Given the description of an element on the screen output the (x, y) to click on. 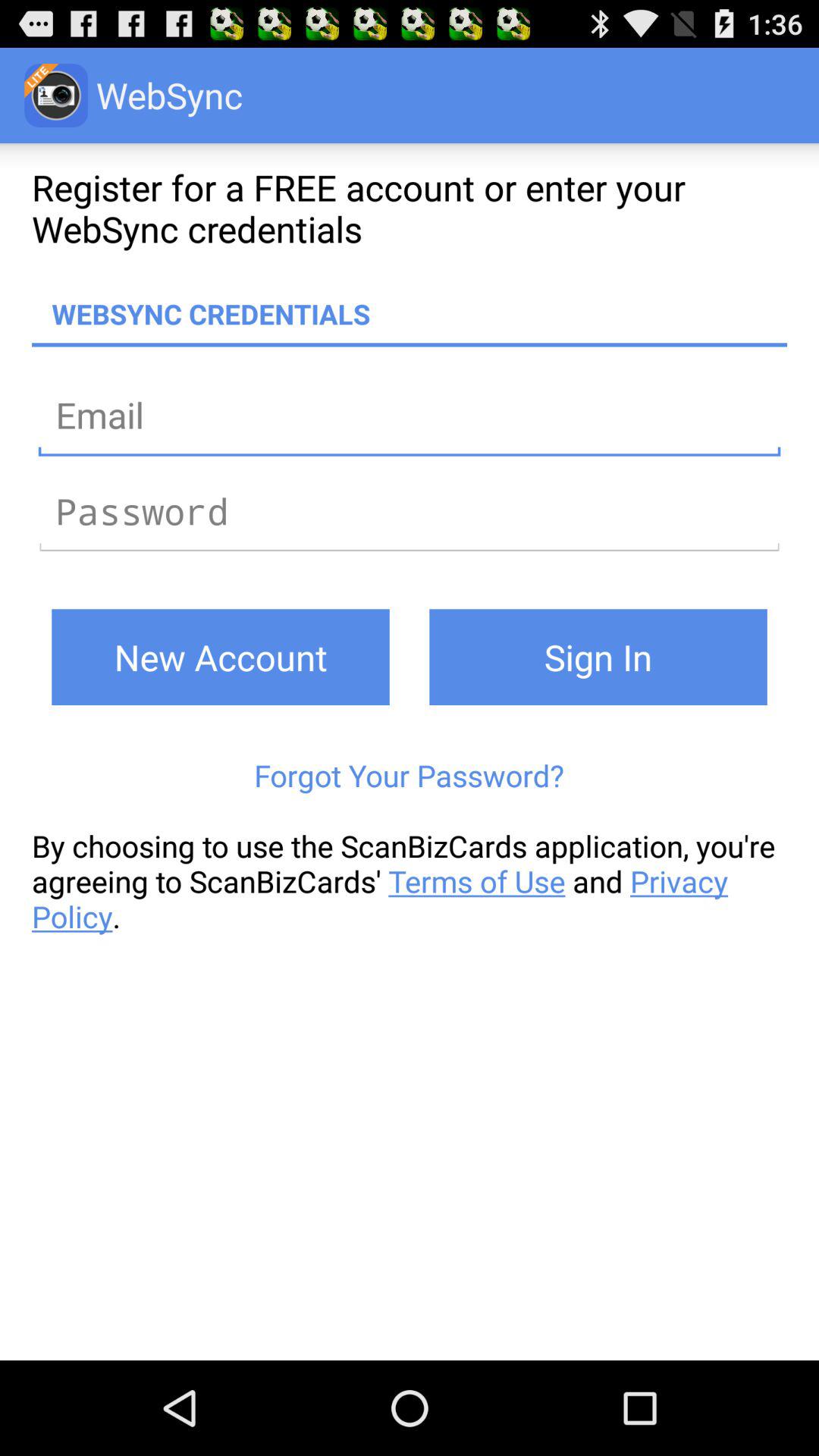
open the button below new account button (409, 775)
